Given the description of an element on the screen output the (x, y) to click on. 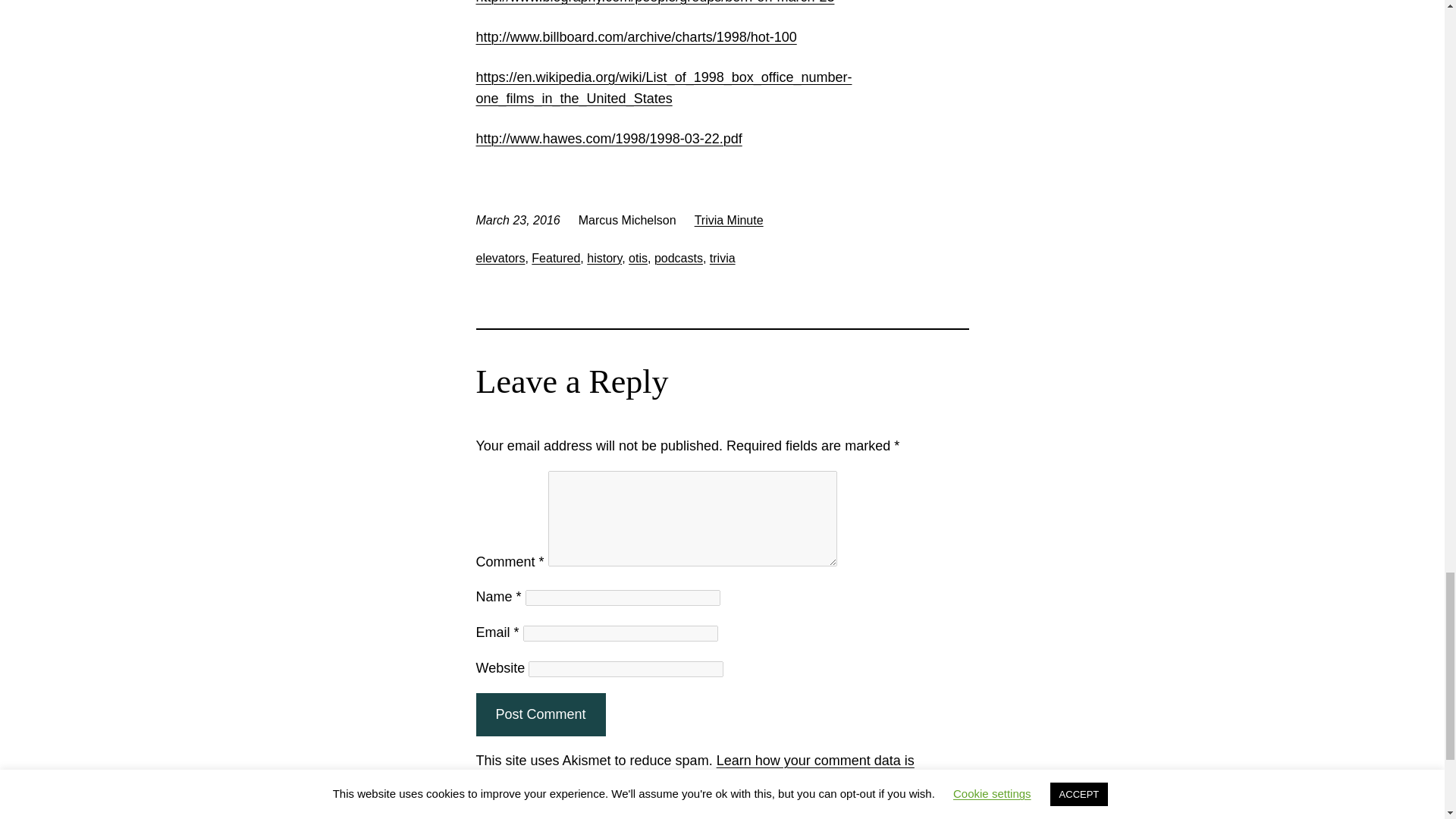
otis (637, 257)
Featured (555, 257)
elevators (500, 257)
Post Comment (540, 714)
Post Comment (540, 714)
history (603, 257)
trivia (722, 257)
Trivia Minute (728, 219)
podcasts (678, 257)
